Given the description of an element on the screen output the (x, y) to click on. 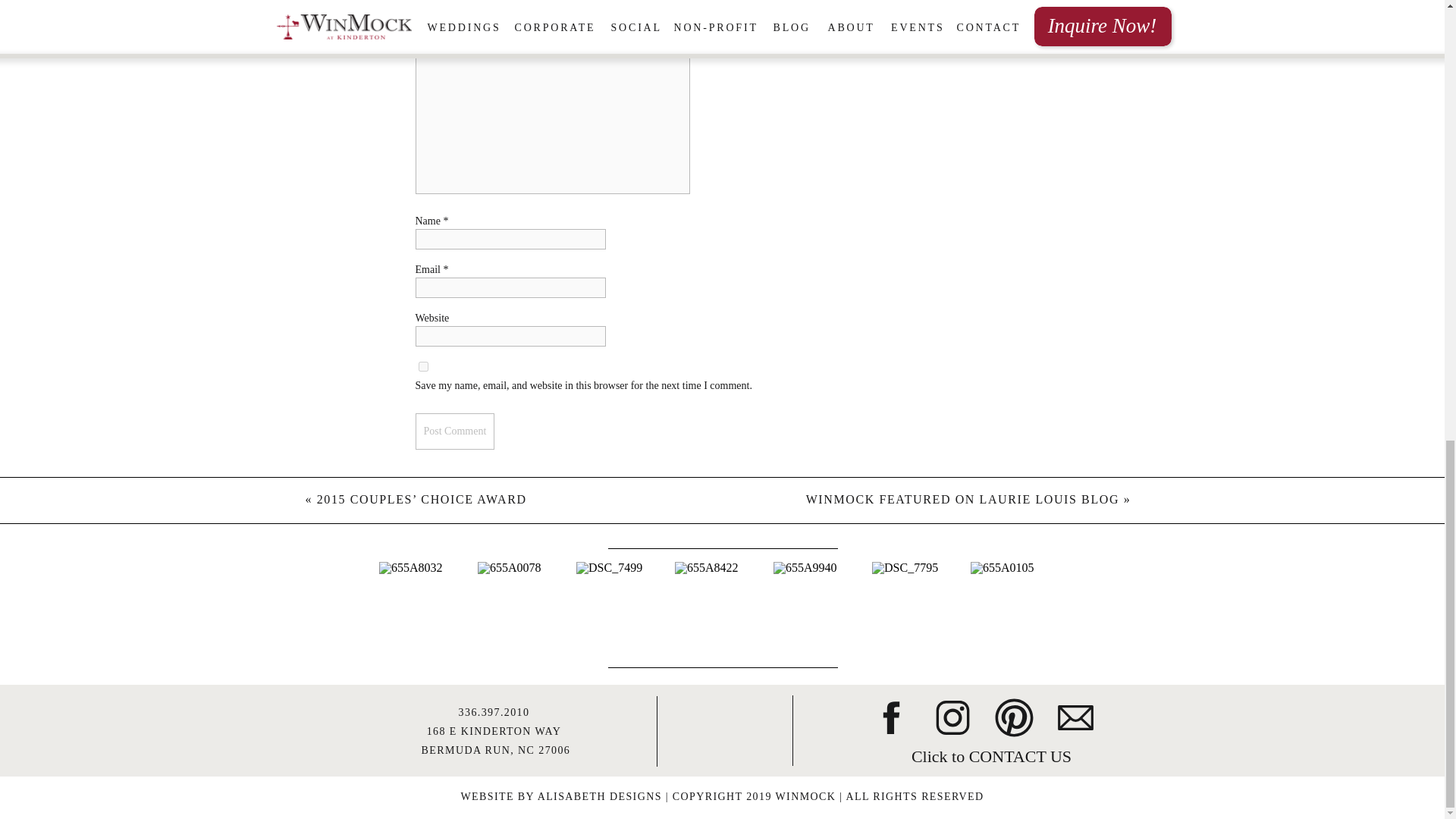
Post Comment (454, 430)
336.397.2010 (493, 712)
655A0078 (524, 608)
yes (423, 366)
655A8422 (722, 608)
655A8032 (426, 608)
Post Comment (454, 430)
Click to CONTACT US (991, 753)
655A0105 (1018, 608)
WINMOCK FEATURED ON LAURIE LOUIS BLOG (962, 499)
